Given the description of an element on the screen output the (x, y) to click on. 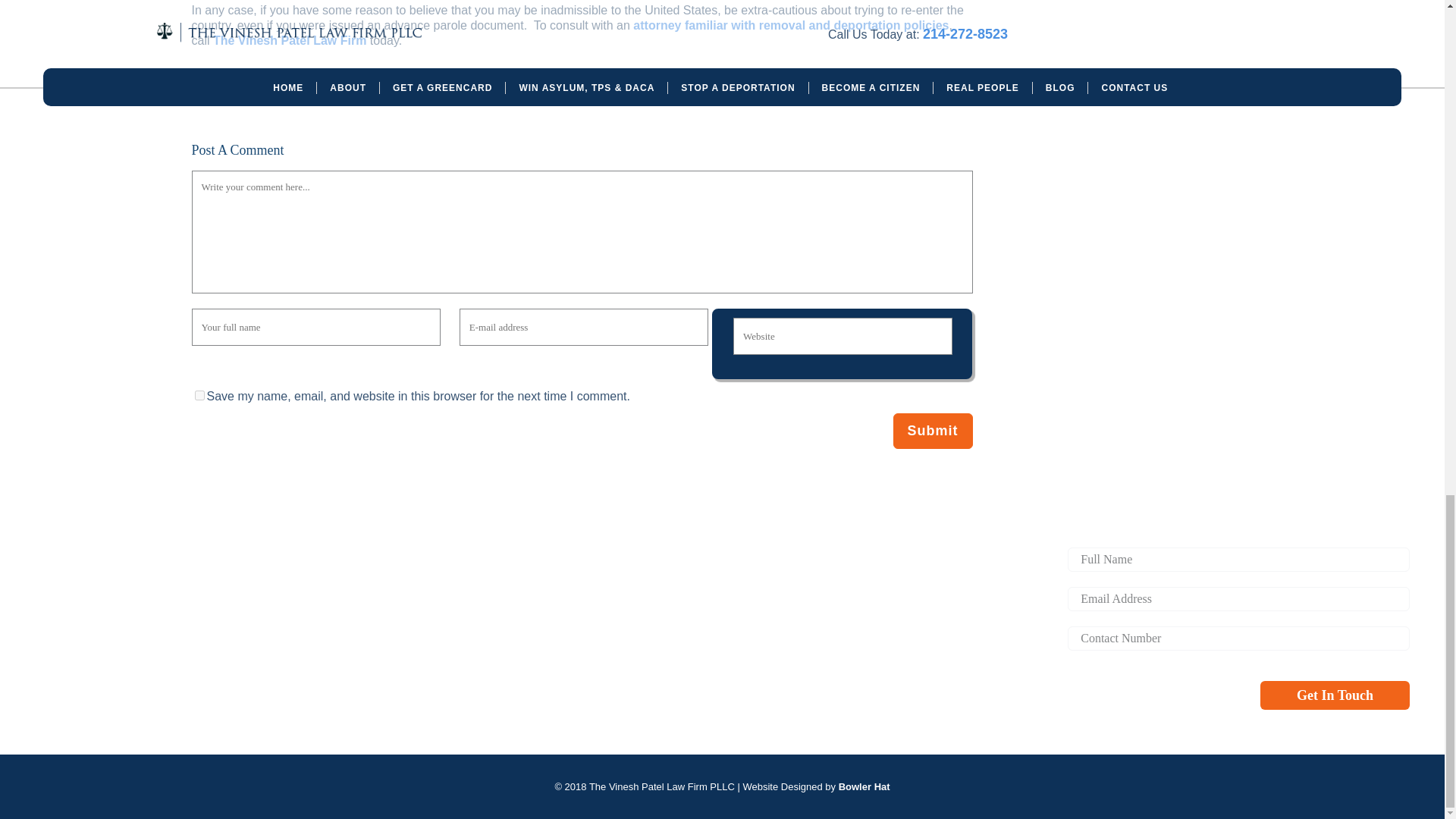
Get in Touch (1334, 695)
yes (198, 395)
Submit (932, 430)
